Given the description of an element on the screen output the (x, y) to click on. 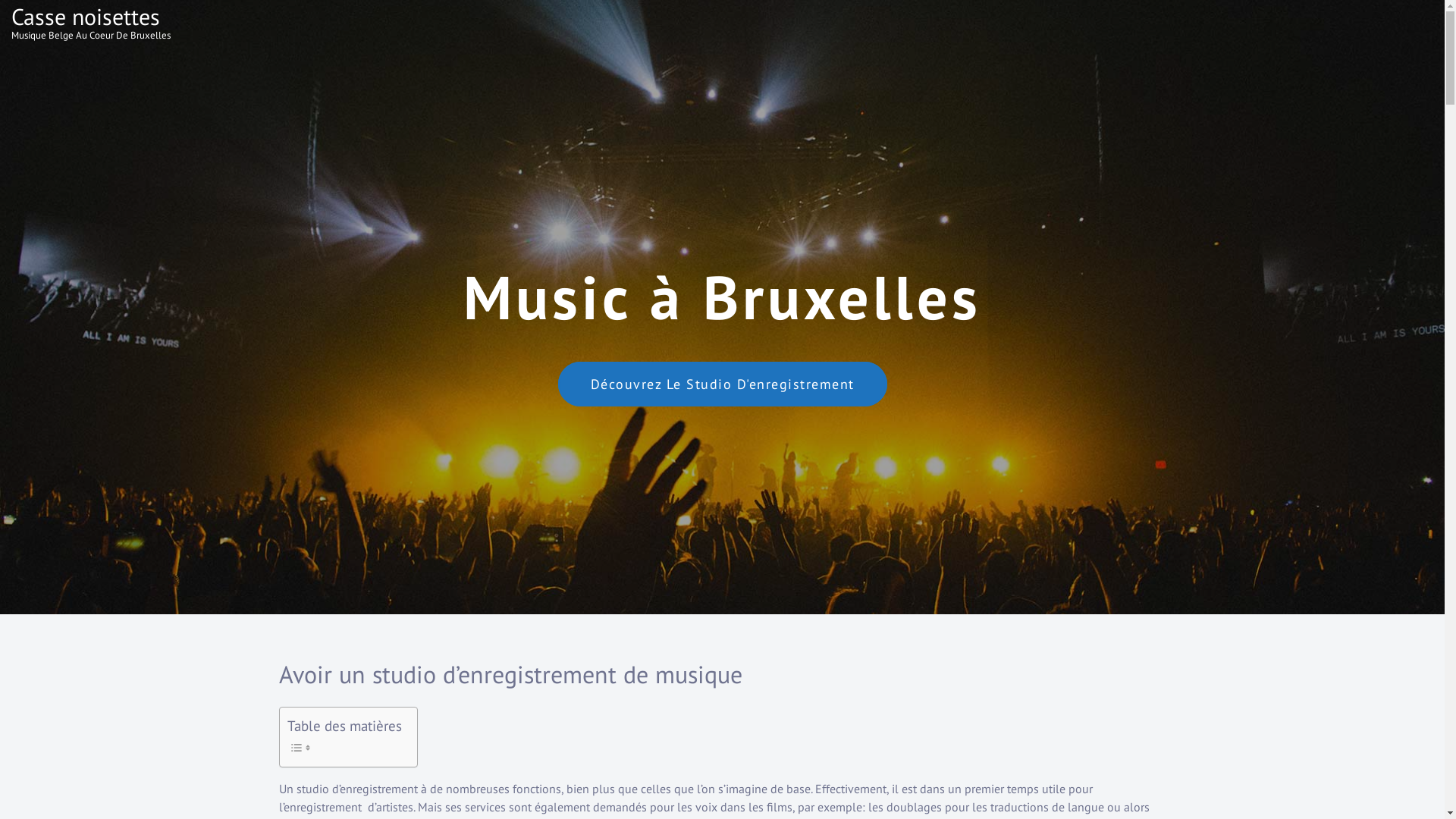
Casse noisettes Element type: text (85, 16)
